Given the description of an element on the screen output the (x, y) to click on. 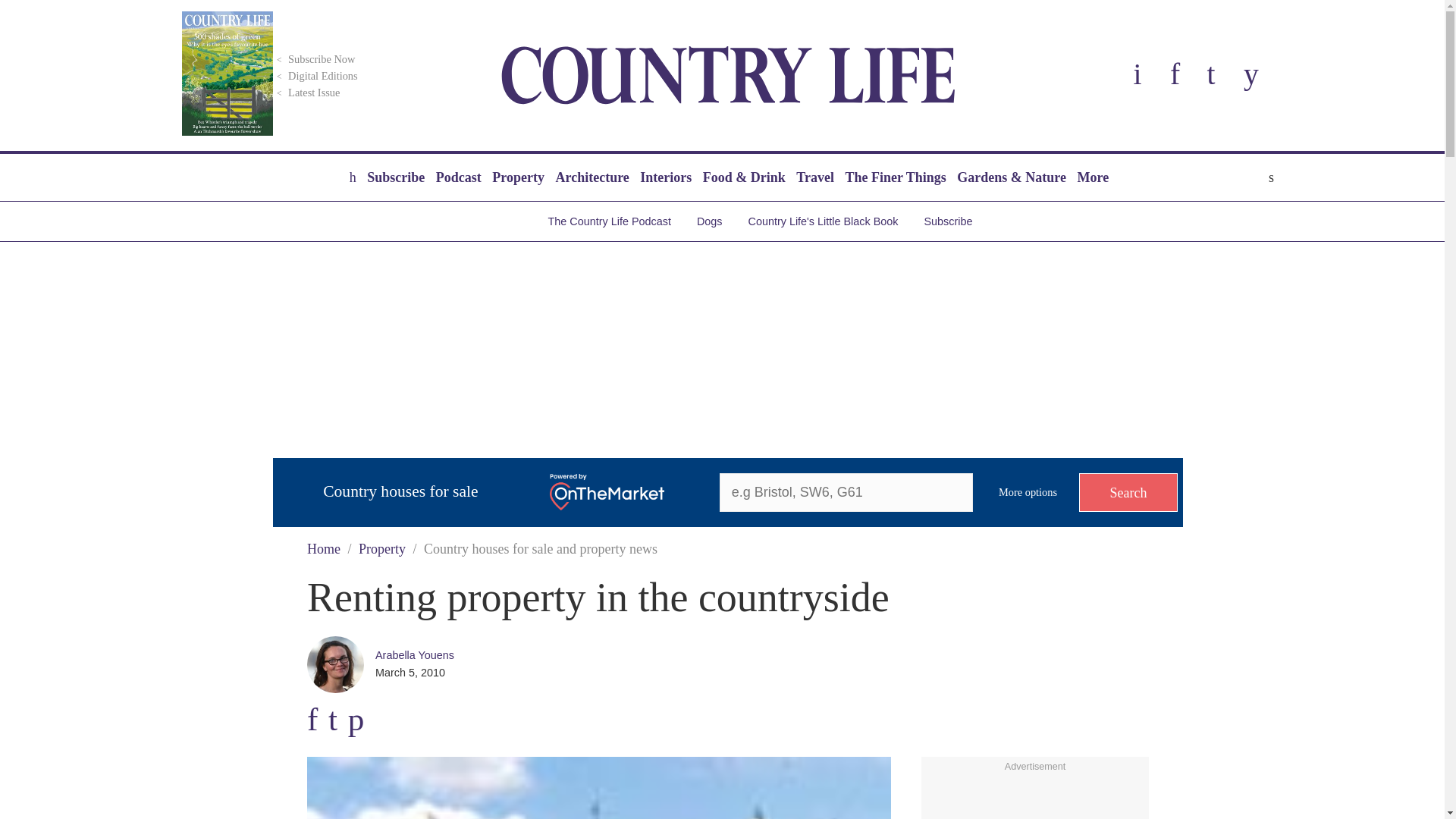
Country Life (727, 74)
Subscribe Now (314, 59)
Subscribe (395, 176)
Interiors (665, 176)
Podcast (458, 176)
Travel (815, 176)
Digital Editions (315, 75)
The Finer Things (895, 176)
Architecture (592, 176)
Property (517, 176)
Latest Issue (306, 92)
